Given the description of an element on the screen output the (x, y) to click on. 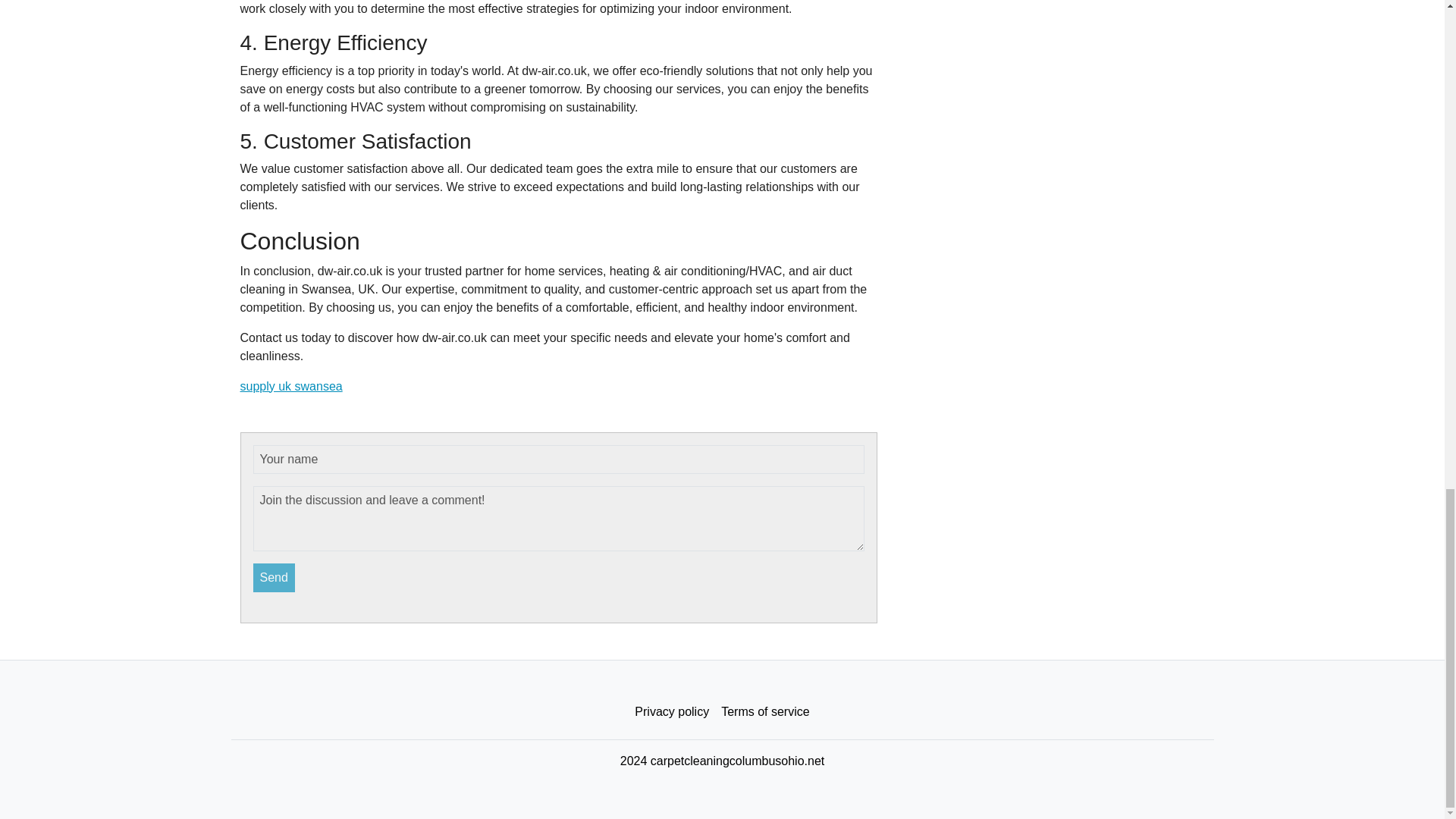
Privacy policy (671, 711)
supply uk swansea (291, 386)
Send (274, 577)
Terms of service (764, 711)
Send (274, 577)
